Given the description of an element on the screen output the (x, y) to click on. 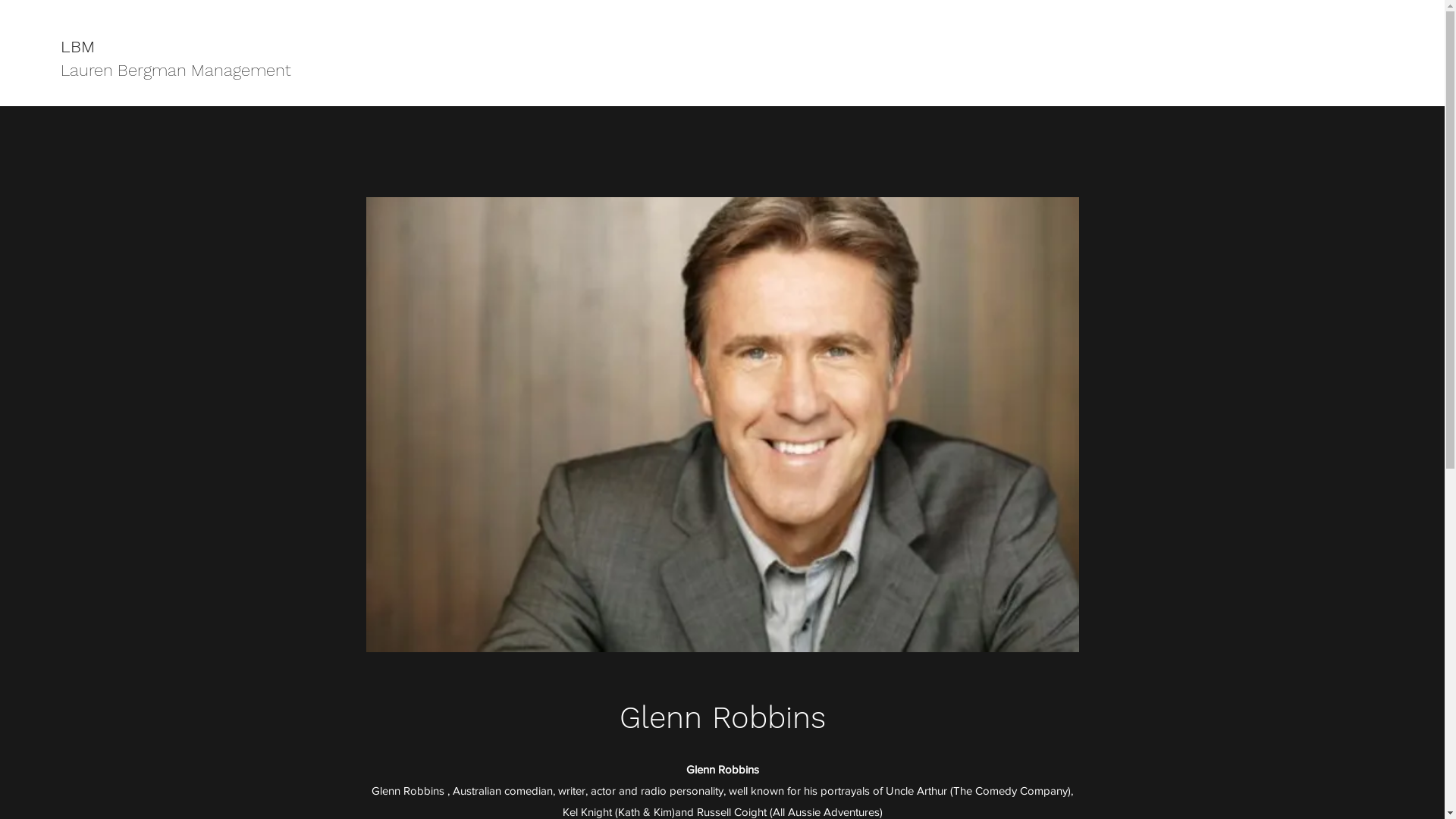
LBM Element type: text (77, 46)
